Given the description of an element on the screen output the (x, y) to click on. 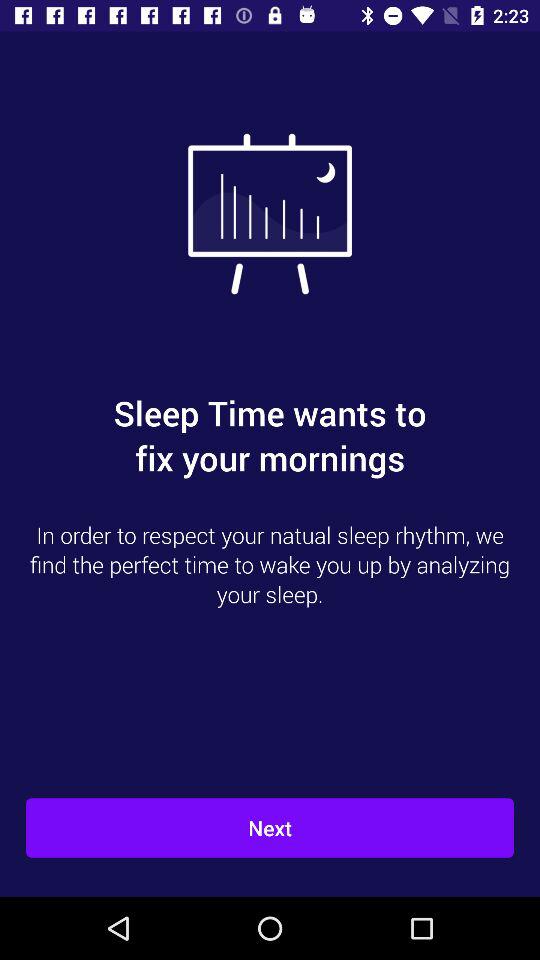
tap the icon below in order to item (269, 827)
